Given the description of an element on the screen output the (x, y) to click on. 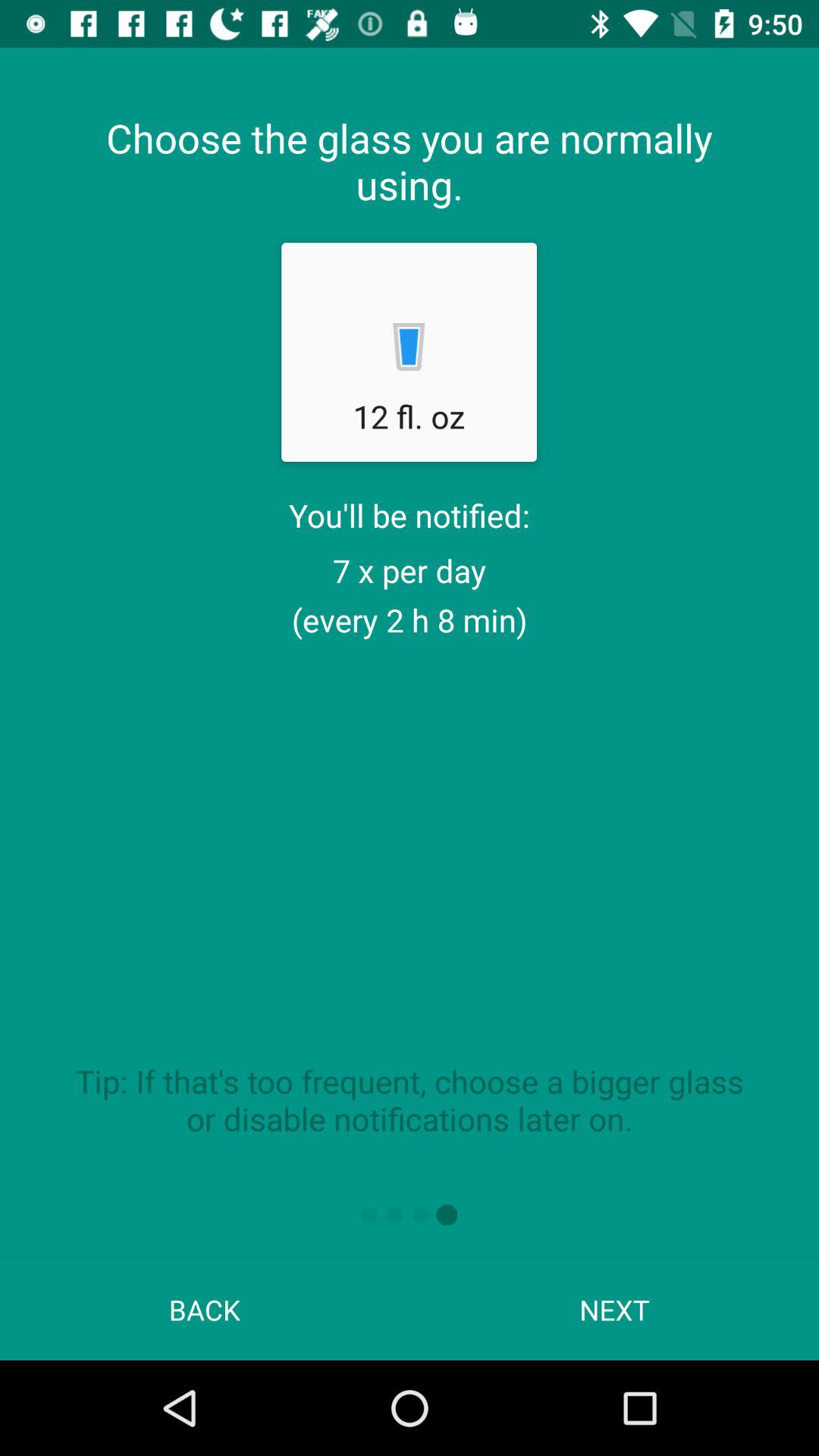
turn off the icon at the bottom right corner (614, 1309)
